Given the description of an element on the screen output the (x, y) to click on. 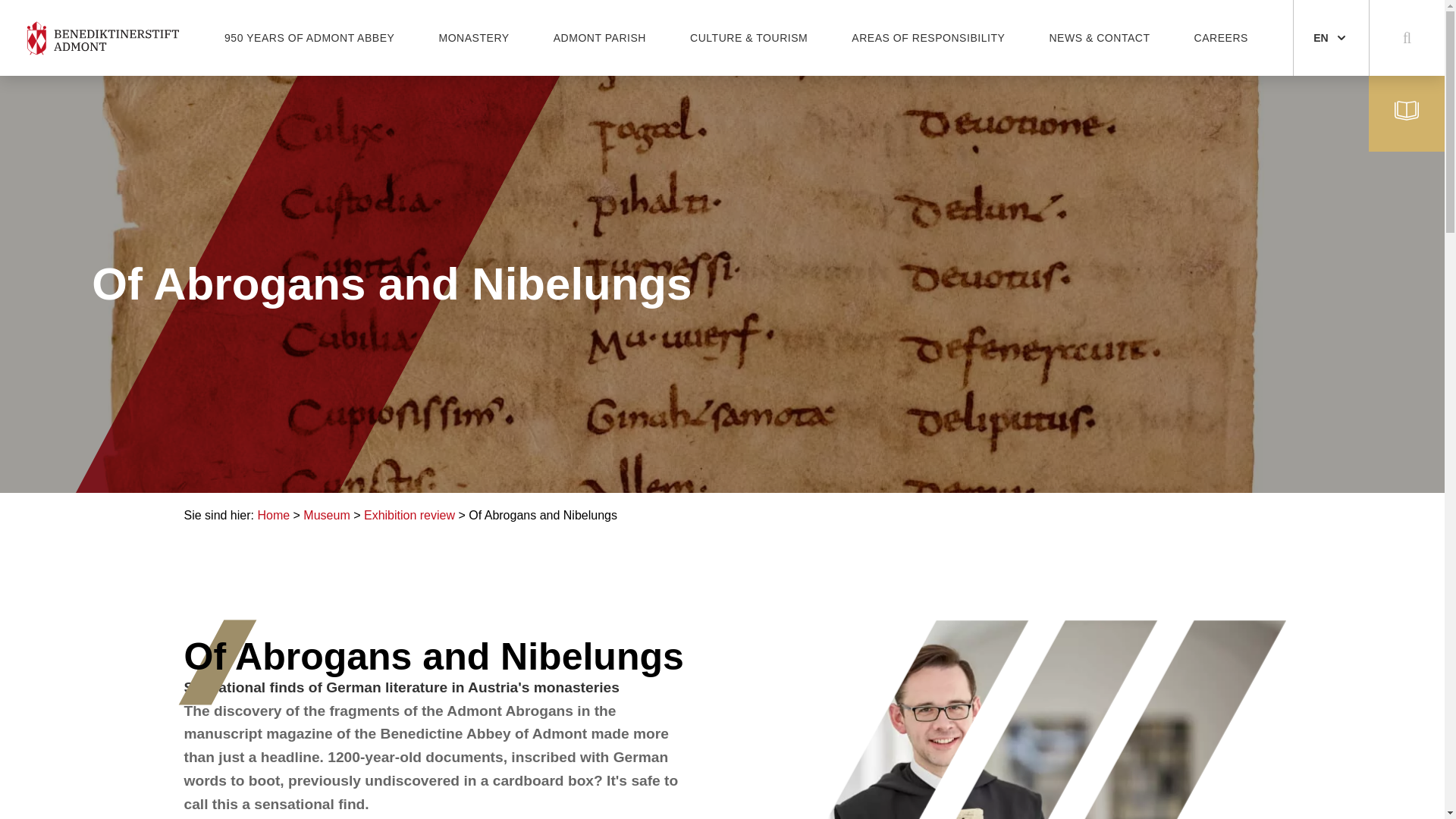
ADMONT PARISH (599, 38)
MONASTERY (473, 38)
950 YEARS OF ADMONT ABBEY (309, 38)
